Given the description of an element on the screen output the (x, y) to click on. 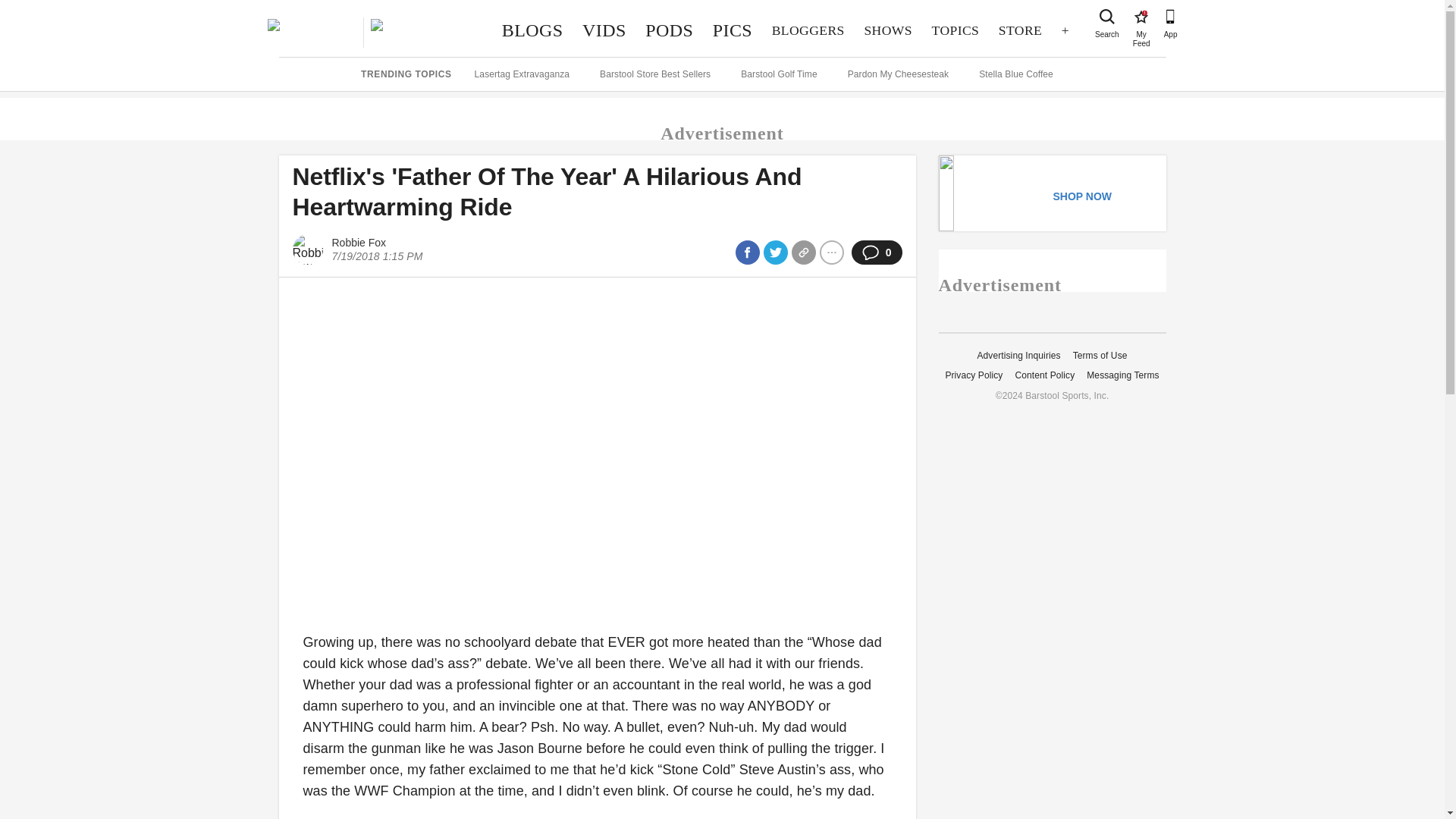
VIDS (603, 30)
STORE (1019, 30)
Search (1141, 16)
SHOWS (1107, 16)
PICS (887, 30)
TOPICS (732, 30)
BLOGS (954, 30)
PODS (532, 30)
BLOGGERS (668, 30)
